Given the description of an element on the screen output the (x, y) to click on. 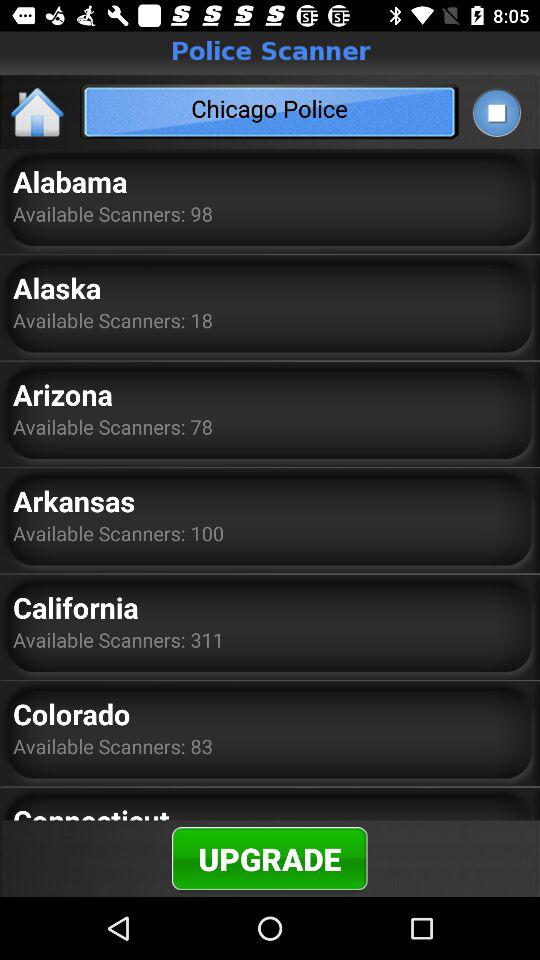
select the item to the left of the chicago police (38, 111)
